Given the description of an element on the screen output the (x, y) to click on. 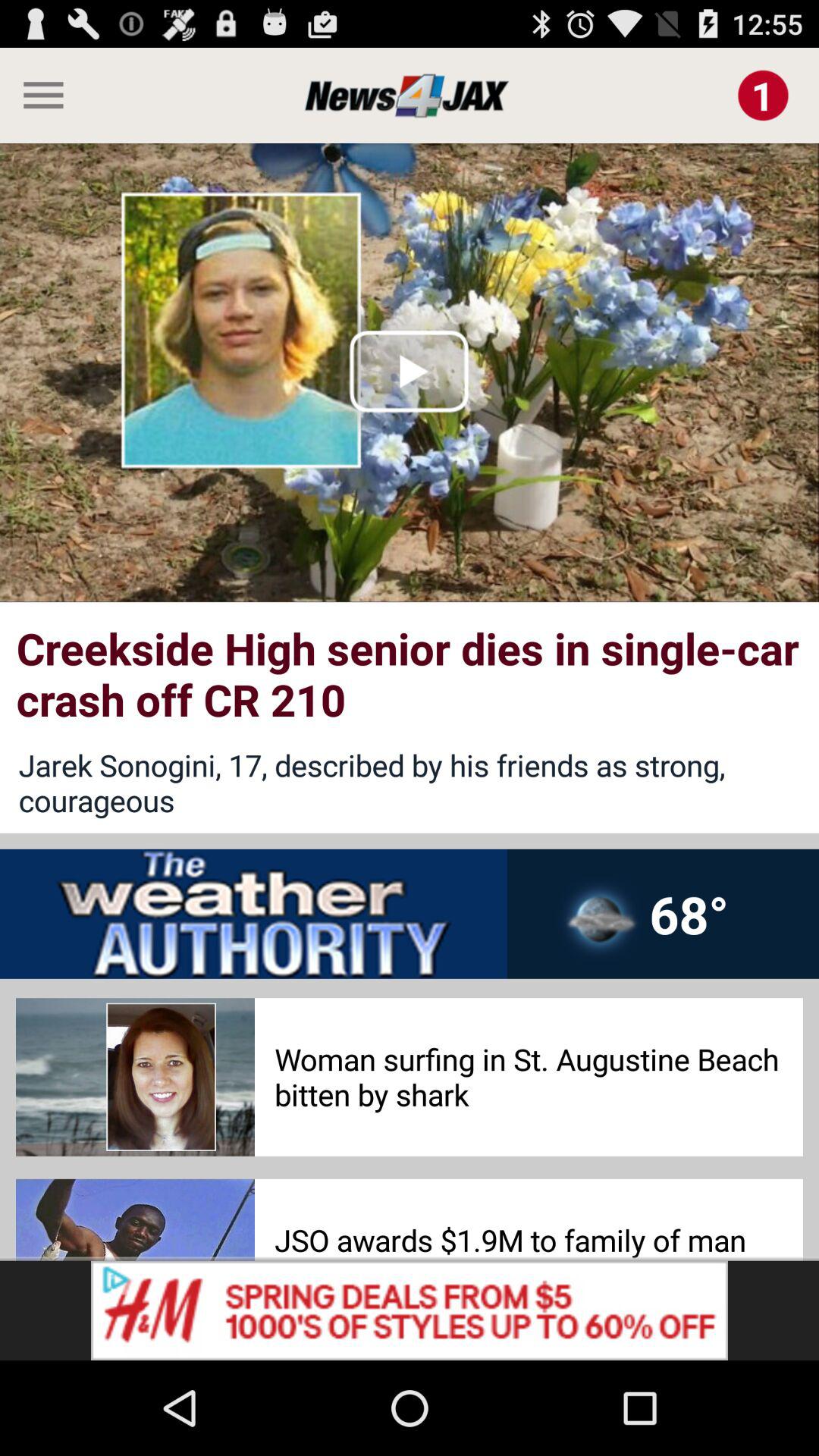
click banner advertisement (409, 1310)
